Given the description of an element on the screen output the (x, y) to click on. 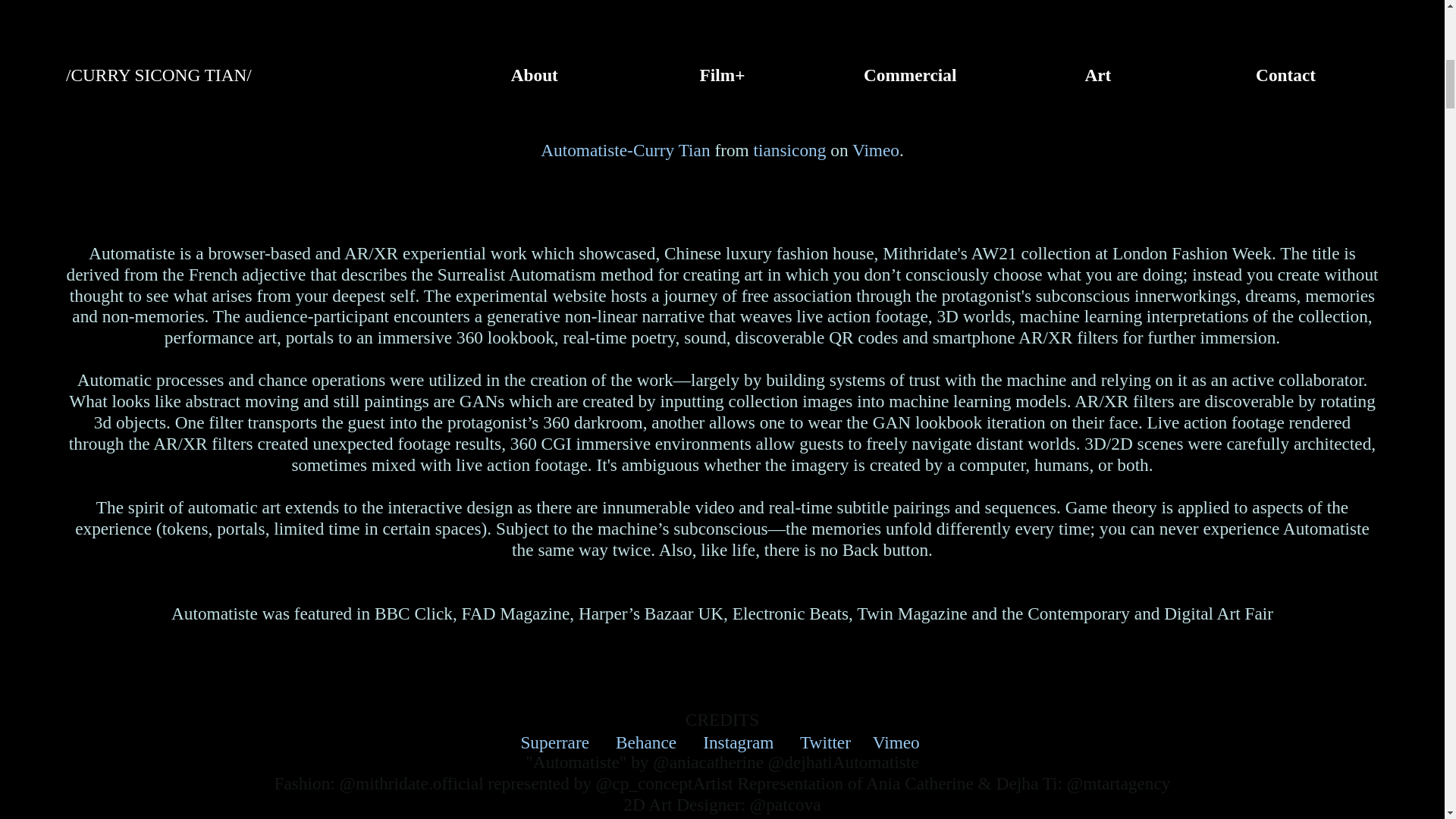
tiansicong (790, 150)
Vimeo (875, 150)
Automatiste-Curry Tian (625, 150)
